Given the description of an element on the screen output the (x, y) to click on. 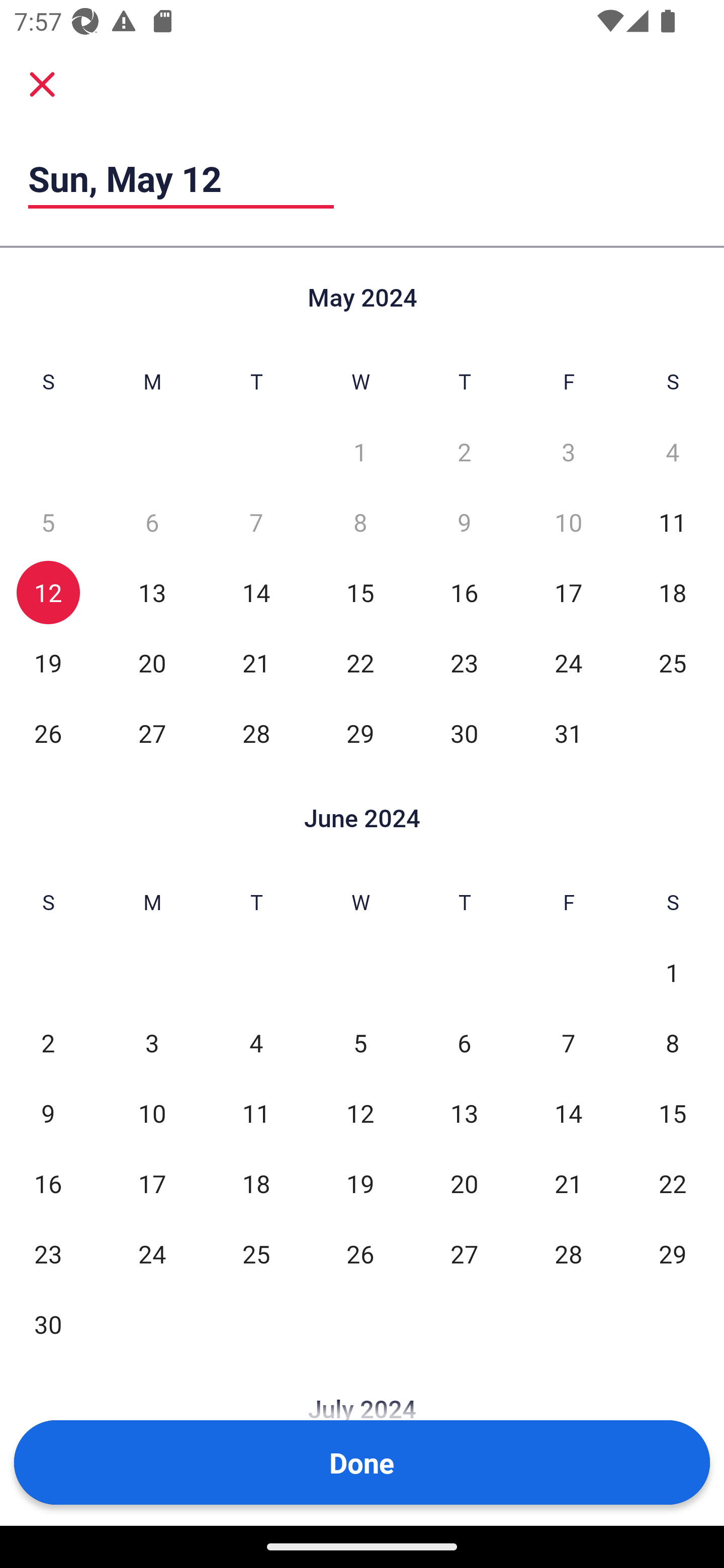
Cancel (41, 83)
Sun, May 12 (180, 178)
1 Wed, May 1, Not Selected (360, 452)
2 Thu, May 2, Not Selected (464, 452)
3 Fri, May 3, Not Selected (568, 452)
4 Sat, May 4, Not Selected (672, 452)
5 Sun, May 5, Not Selected (48, 521)
6 Mon, May 6, Not Selected (152, 521)
7 Tue, May 7, Not Selected (256, 521)
8 Wed, May 8, Not Selected (360, 521)
9 Thu, May 9, Not Selected (464, 521)
10 Fri, May 10, Not Selected (568, 521)
11 Sat, May 11, Not Selected (672, 521)
12 Sun, May 12, Selected (48, 591)
13 Mon, May 13, Not Selected (152, 591)
14 Tue, May 14, Not Selected (256, 591)
15 Wed, May 15, Not Selected (360, 591)
16 Thu, May 16, Not Selected (464, 591)
17 Fri, May 17, Not Selected (568, 591)
18 Sat, May 18, Not Selected (672, 591)
19 Sun, May 19, Not Selected (48, 662)
20 Mon, May 20, Not Selected (152, 662)
21 Tue, May 21, Not Selected (256, 662)
22 Wed, May 22, Not Selected (360, 662)
23 Thu, May 23, Not Selected (464, 662)
24 Fri, May 24, Not Selected (568, 662)
25 Sat, May 25, Not Selected (672, 662)
26 Sun, May 26, Not Selected (48, 732)
27 Mon, May 27, Not Selected (152, 732)
28 Tue, May 28, Not Selected (256, 732)
29 Wed, May 29, Not Selected (360, 732)
30 Thu, May 30, Not Selected (464, 732)
31 Fri, May 31, Not Selected (568, 732)
1 Sat, Jun 1, Not Selected (672, 972)
2 Sun, Jun 2, Not Selected (48, 1043)
3 Mon, Jun 3, Not Selected (152, 1043)
4 Tue, Jun 4, Not Selected (256, 1043)
5 Wed, Jun 5, Not Selected (360, 1043)
6 Thu, Jun 6, Not Selected (464, 1043)
7 Fri, Jun 7, Not Selected (568, 1043)
8 Sat, Jun 8, Not Selected (672, 1043)
9 Sun, Jun 9, Not Selected (48, 1112)
10 Mon, Jun 10, Not Selected (152, 1112)
11 Tue, Jun 11, Not Selected (256, 1112)
12 Wed, Jun 12, Not Selected (360, 1112)
13 Thu, Jun 13, Not Selected (464, 1112)
14 Fri, Jun 14, Not Selected (568, 1112)
15 Sat, Jun 15, Not Selected (672, 1112)
16 Sun, Jun 16, Not Selected (48, 1182)
17 Mon, Jun 17, Not Selected (152, 1182)
18 Tue, Jun 18, Not Selected (256, 1182)
19 Wed, Jun 19, Not Selected (360, 1182)
20 Thu, Jun 20, Not Selected (464, 1182)
21 Fri, Jun 21, Not Selected (568, 1182)
22 Sat, Jun 22, Not Selected (672, 1182)
23 Sun, Jun 23, Not Selected (48, 1253)
24 Mon, Jun 24, Not Selected (152, 1253)
25 Tue, Jun 25, Not Selected (256, 1253)
26 Wed, Jun 26, Not Selected (360, 1253)
27 Thu, Jun 27, Not Selected (464, 1253)
28 Fri, Jun 28, Not Selected (568, 1253)
29 Sat, Jun 29, Not Selected (672, 1253)
30 Sun, Jun 30, Not Selected (48, 1323)
Done Button Done (361, 1462)
